Given the description of an element on the screen output the (x, y) to click on. 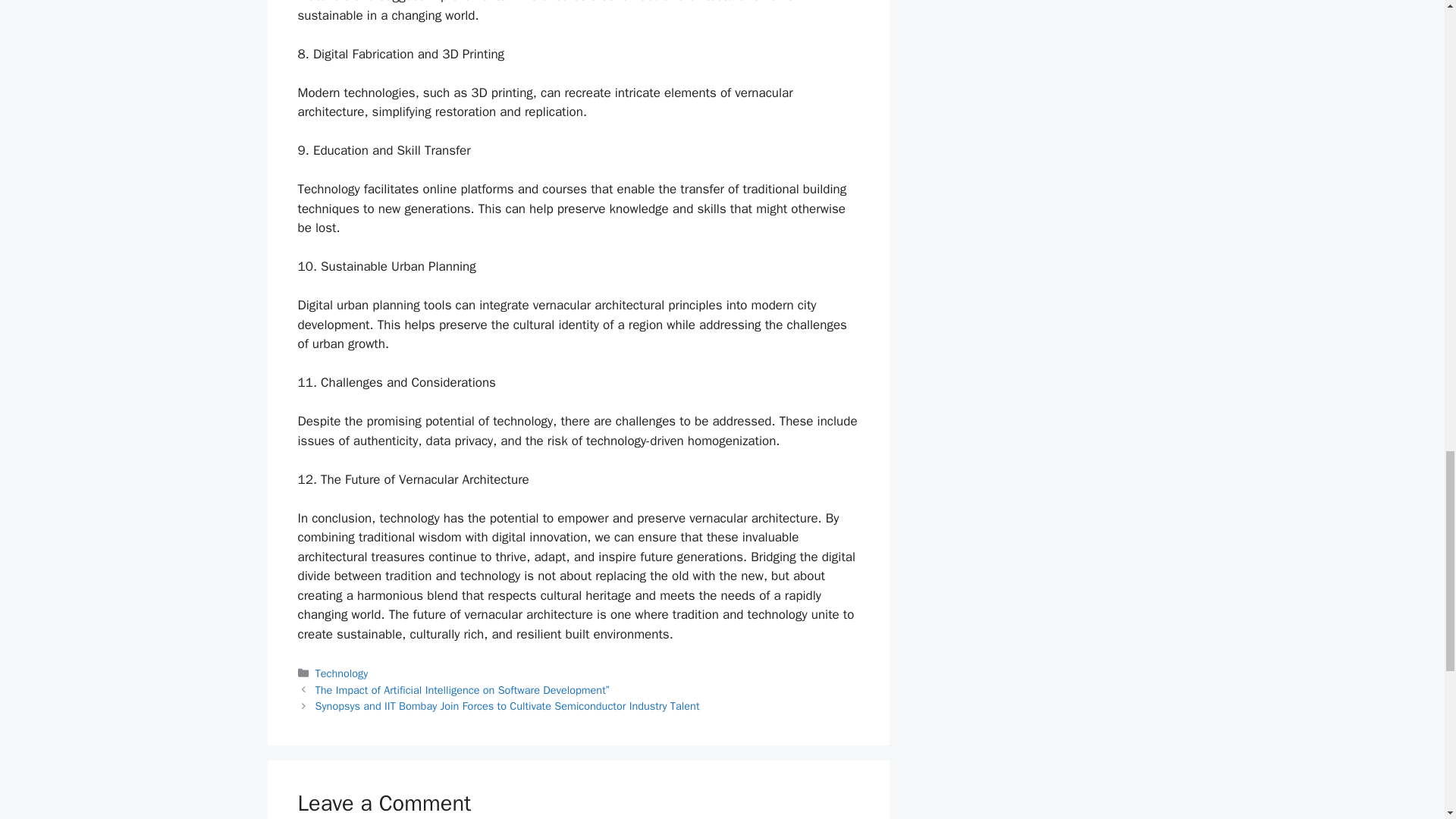
Technology (341, 673)
